Given the description of an element on the screen output the (x, y) to click on. 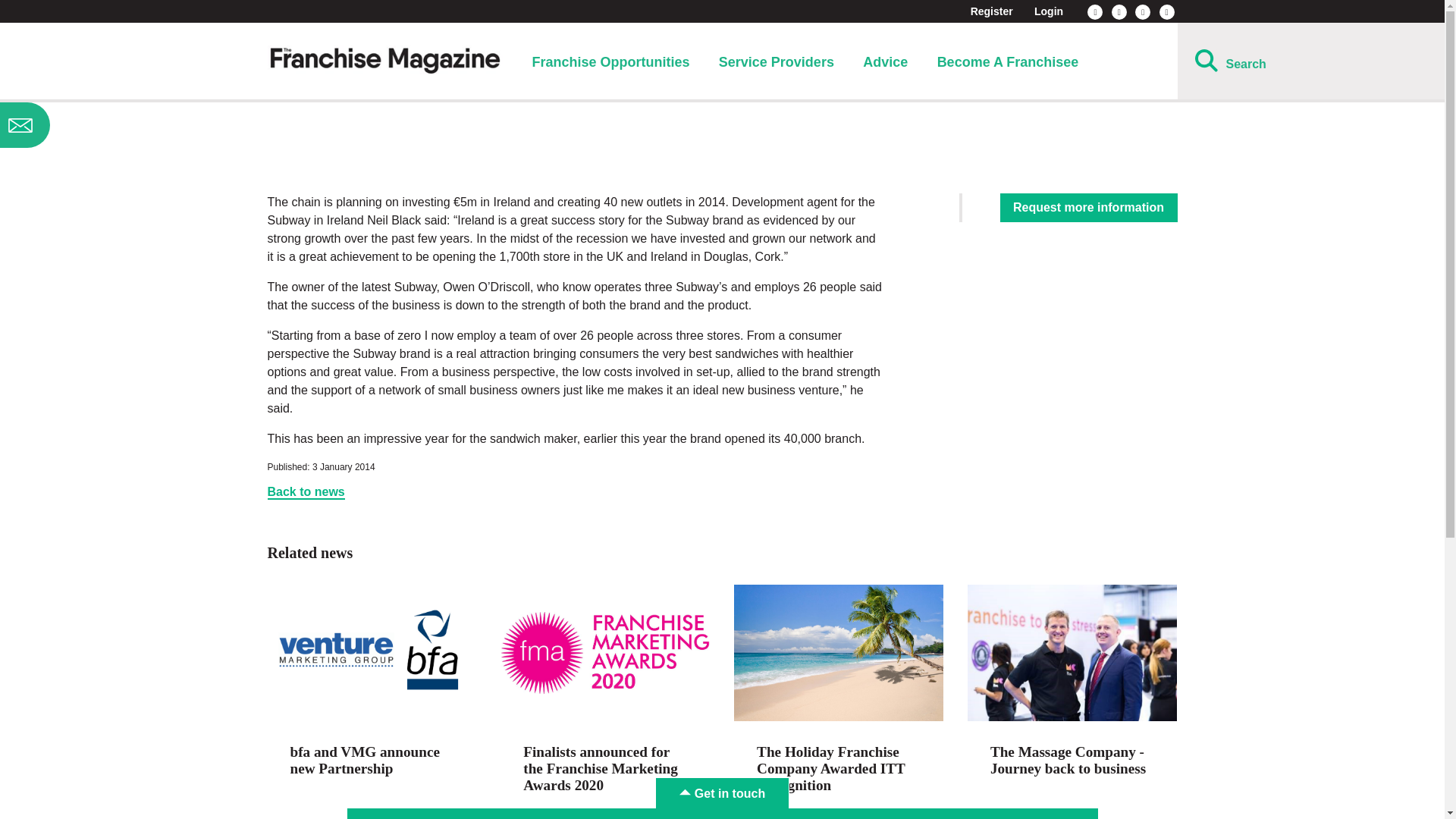
Service Providers (776, 61)
Sign up to the newsletter (120, 125)
Register (992, 10)
Login (1047, 10)
Become A Franchisee (1007, 61)
Service Providers (776, 61)
Advice (885, 61)
Login (1047, 10)
SignupModal (120, 125)
Franchise Opportunities (609, 61)
